Given the description of an element on the screen output the (x, y) to click on. 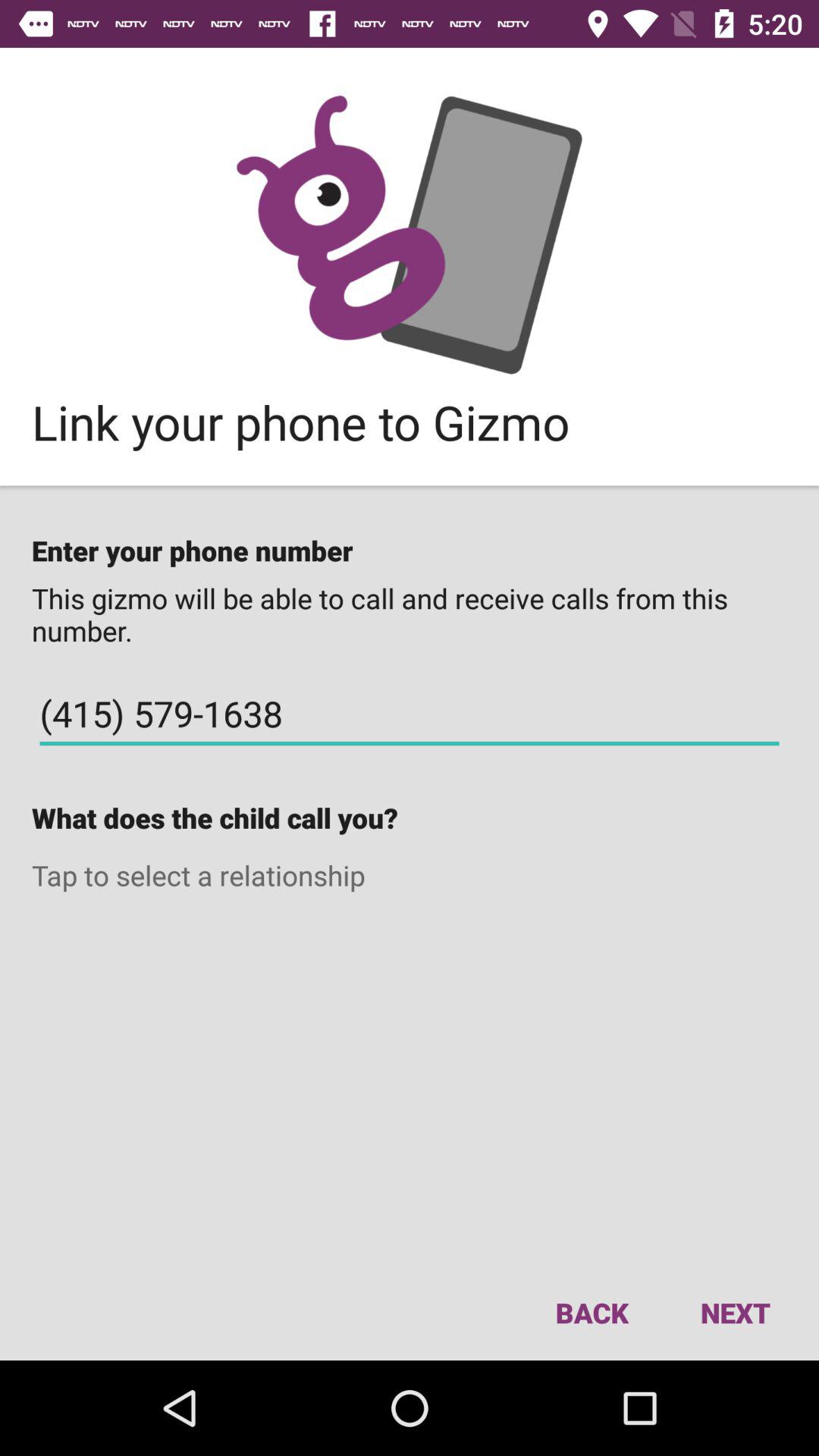
press icon above what does the icon (409, 714)
